Given the description of an element on the screen output the (x, y) to click on. 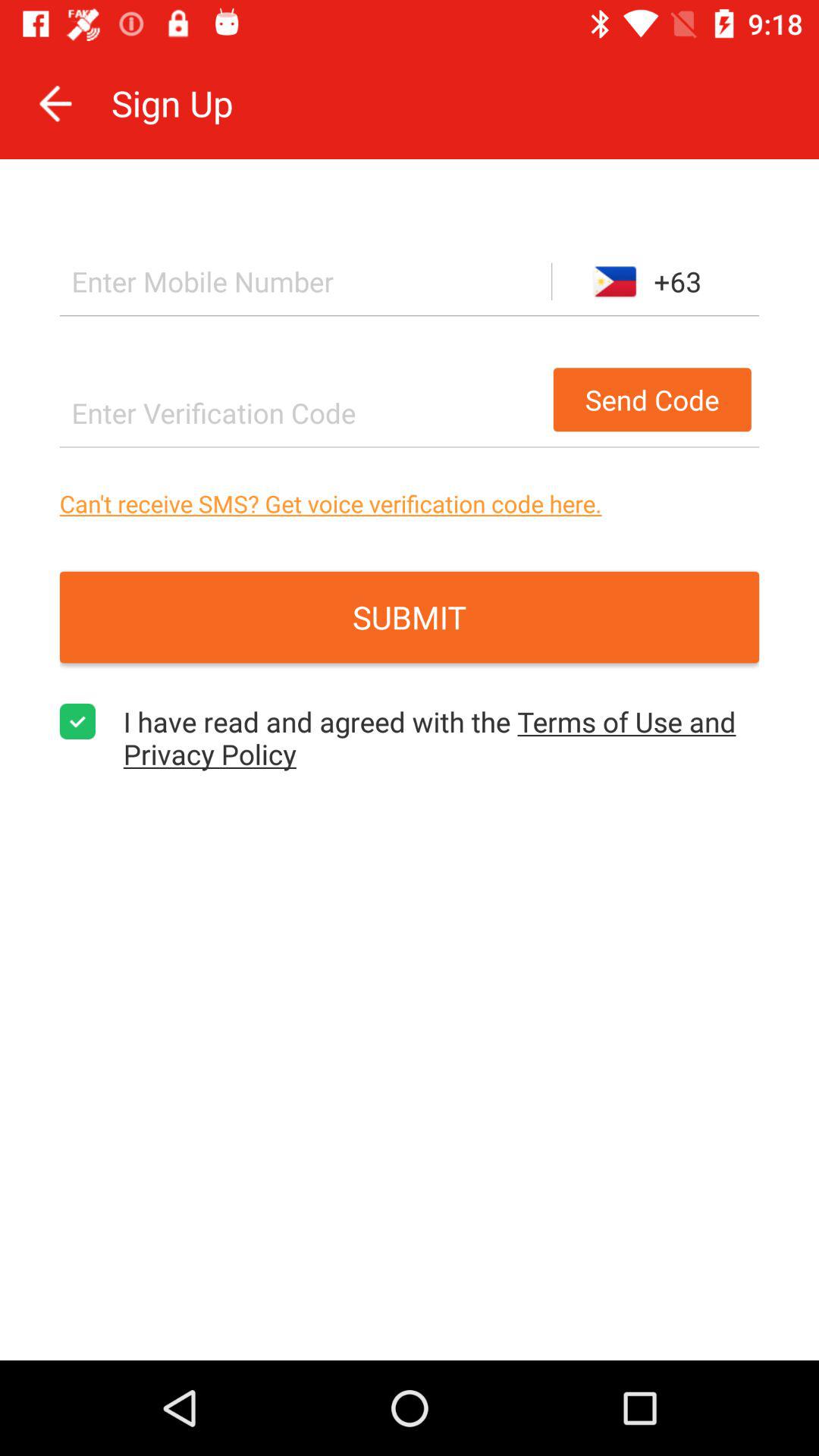
flip to can t receive icon (409, 503)
